Given the description of an element on the screen output the (x, y) to click on. 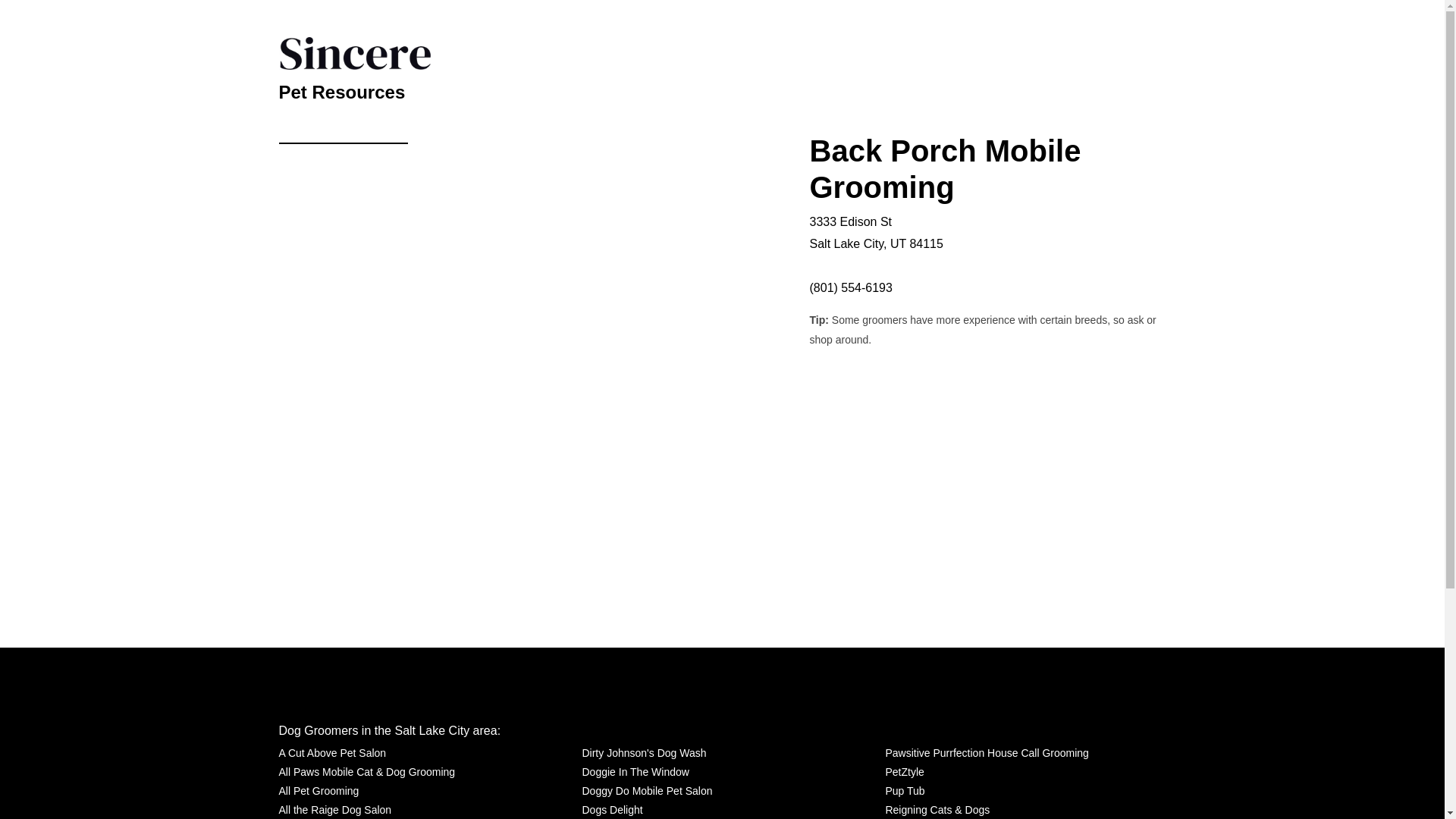
Dog Groomers in the Salt Lake City area: (389, 730)
Dogs Delight (611, 809)
Pawsitive Purrfection House Call Grooming (986, 752)
Dirty Johnson's Dog Wash (643, 752)
All the Raige Dog Salon (335, 809)
PetZtyle (904, 772)
Pet Resources (342, 89)
Doggy Do Mobile Pet Salon (645, 791)
A Cut Above Pet Salon (333, 752)
Doggie In The Window (634, 772)
